Given the description of an element on the screen output the (x, y) to click on. 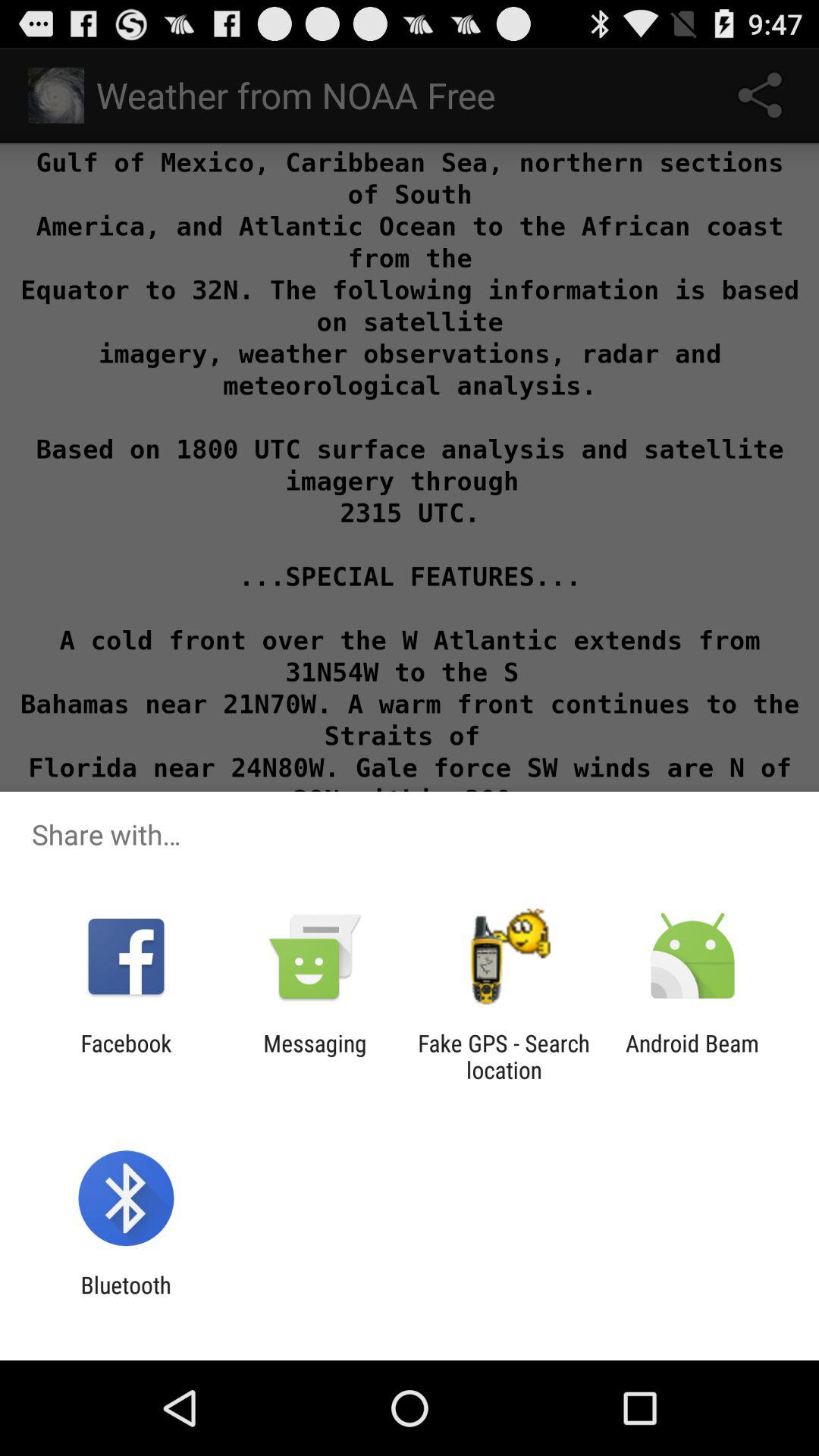
launch the bluetooth app (125, 1298)
